Given the description of an element on the screen output the (x, y) to click on. 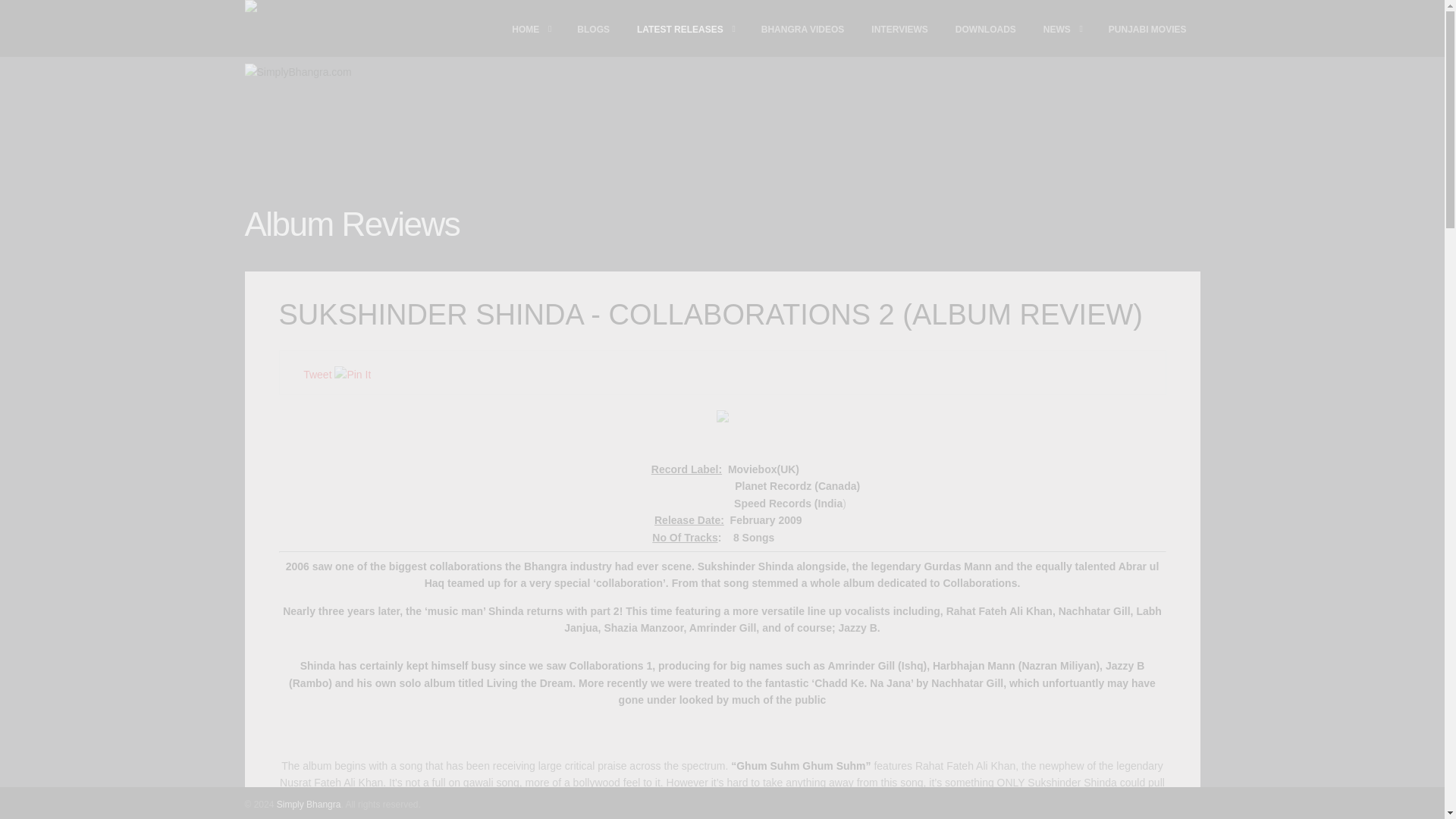
Simply Bhangra (1115, 803)
Pin It (352, 374)
Tweet (316, 374)
INTERVIEWS (898, 29)
NEWS (1061, 29)
DOWNLOADS (985, 29)
HOME (530, 29)
BLOGS (593, 29)
LATEST RELEASES (685, 29)
BHANGRA VIDEOS (803, 29)
PUNJABI MOVIES (1146, 29)
